Given the description of an element on the screen output the (x, y) to click on. 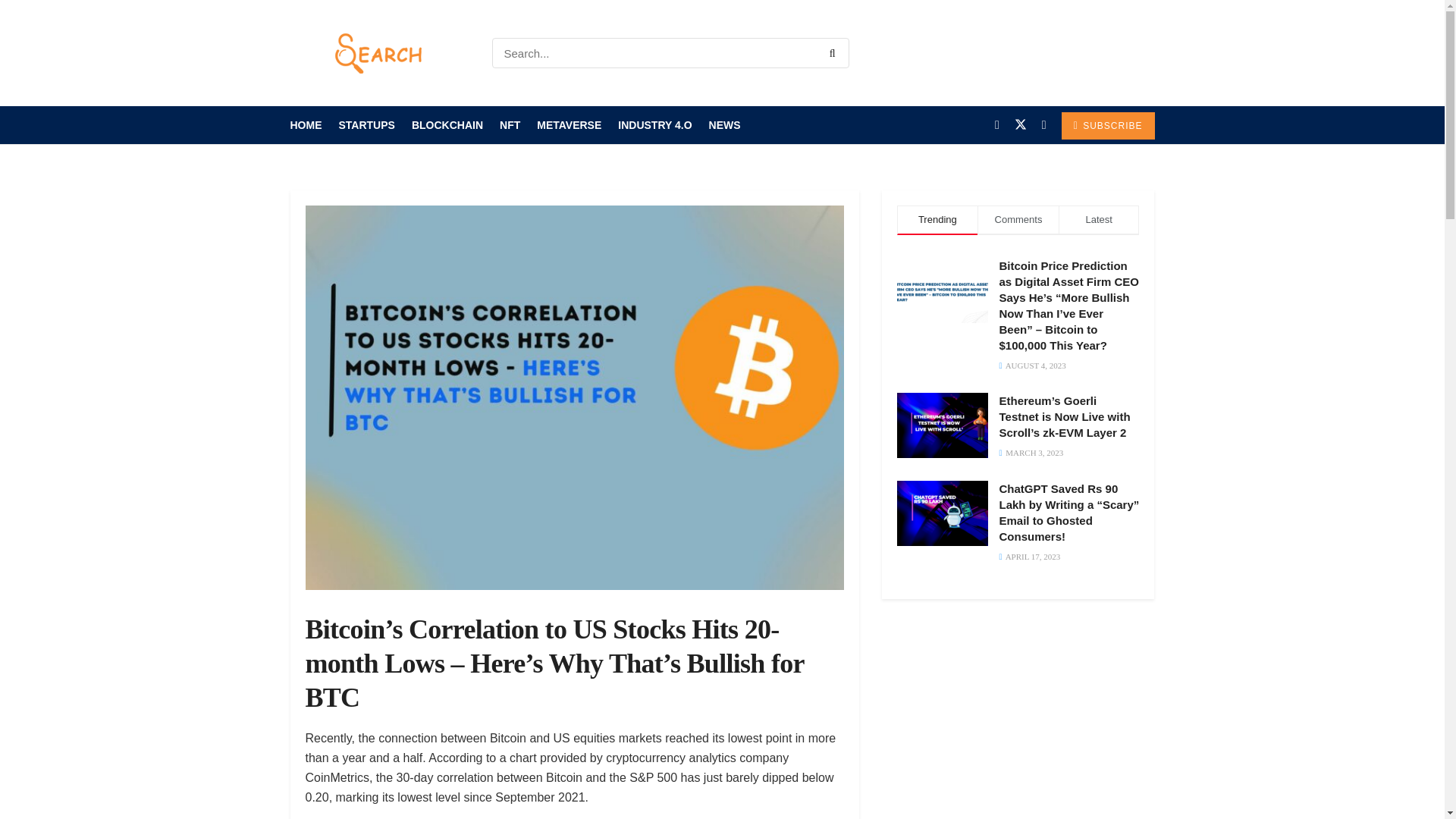
Login (1135, 53)
SUBSCRIBE (1107, 125)
HOME (305, 124)
METAVERSE (569, 124)
NFT (509, 124)
INDUSTRY 4.O (654, 124)
BLOCKCHAIN (447, 124)
STARTUPS (365, 124)
NEWS (725, 124)
